Given the description of an element on the screen output the (x, y) to click on. 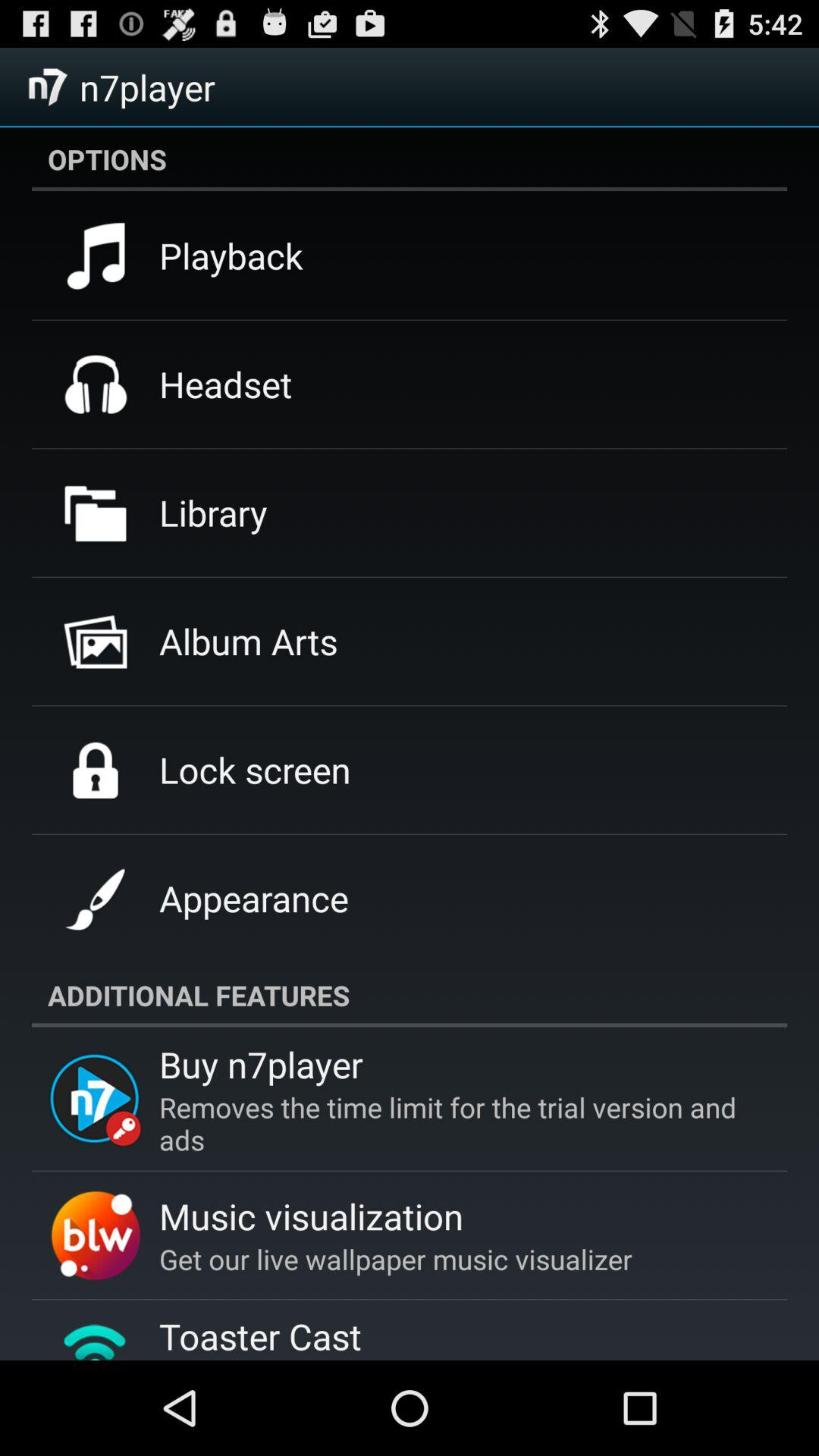
swipe until album arts (248, 641)
